Given the description of an element on the screen output the (x, y) to click on. 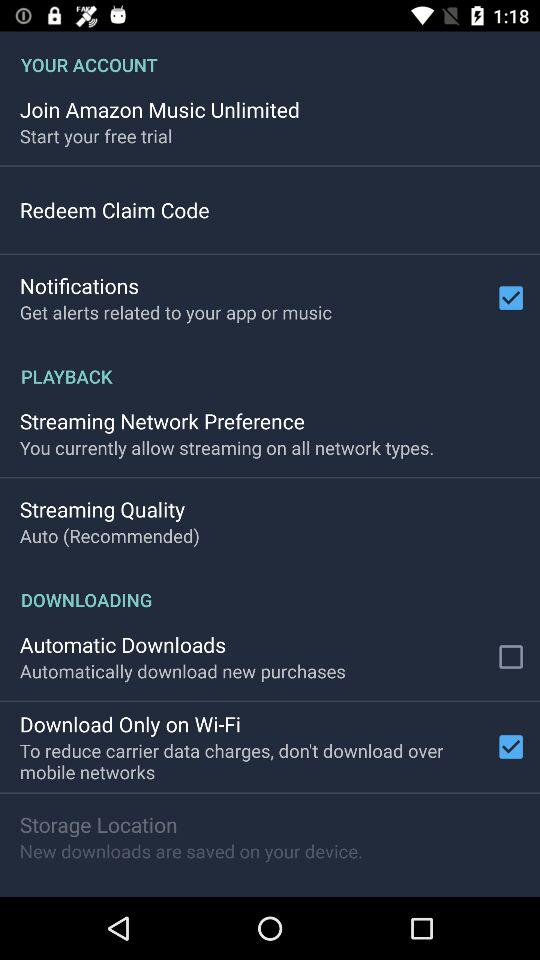
select redeem claim code item (114, 209)
